Given the description of an element on the screen output the (x, y) to click on. 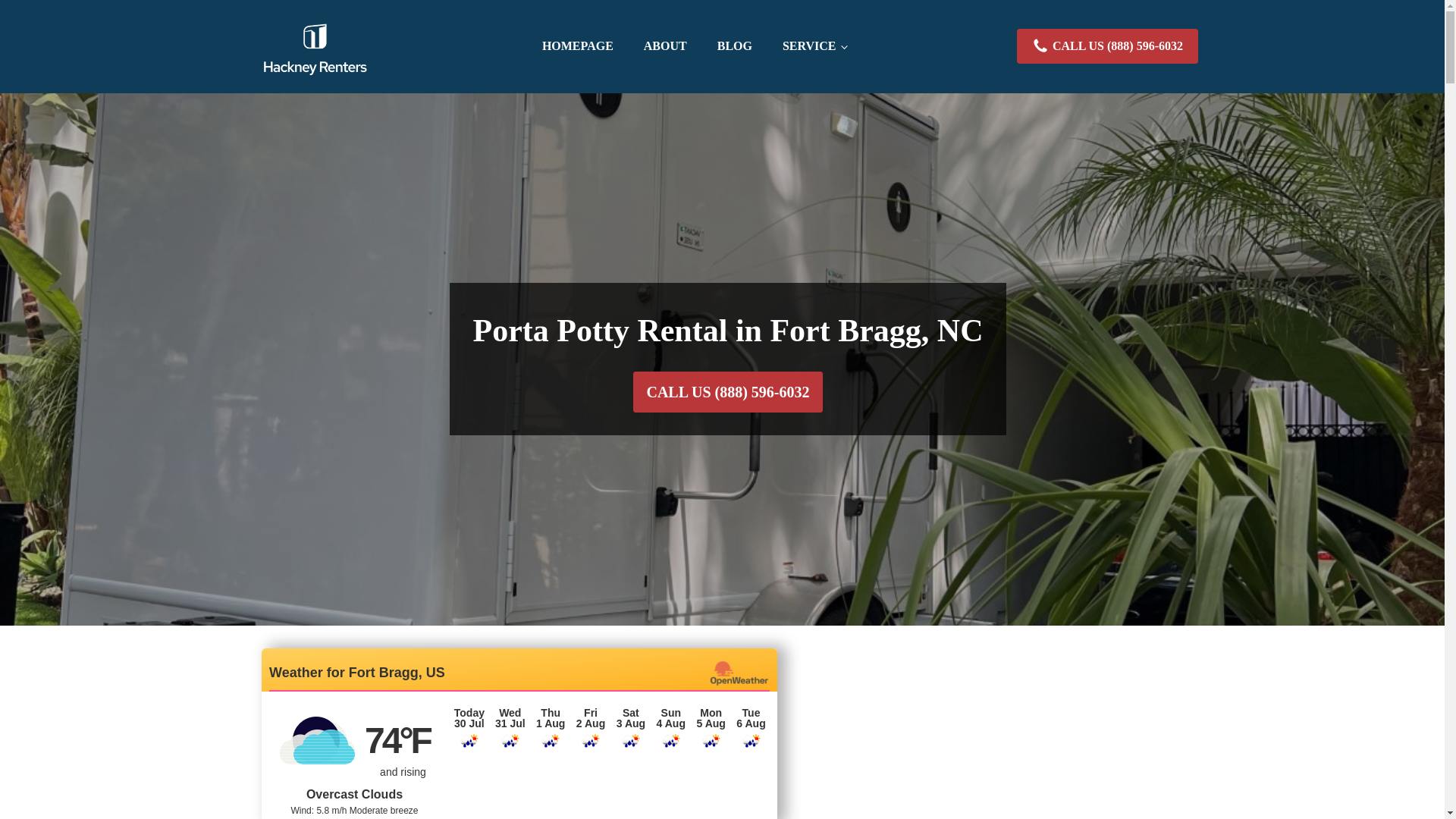
HOMEPAGE (577, 46)
SERVICE (814, 46)
ABOUT (664, 46)
BLOG (734, 46)
